Given the description of an element on the screen output the (x, y) to click on. 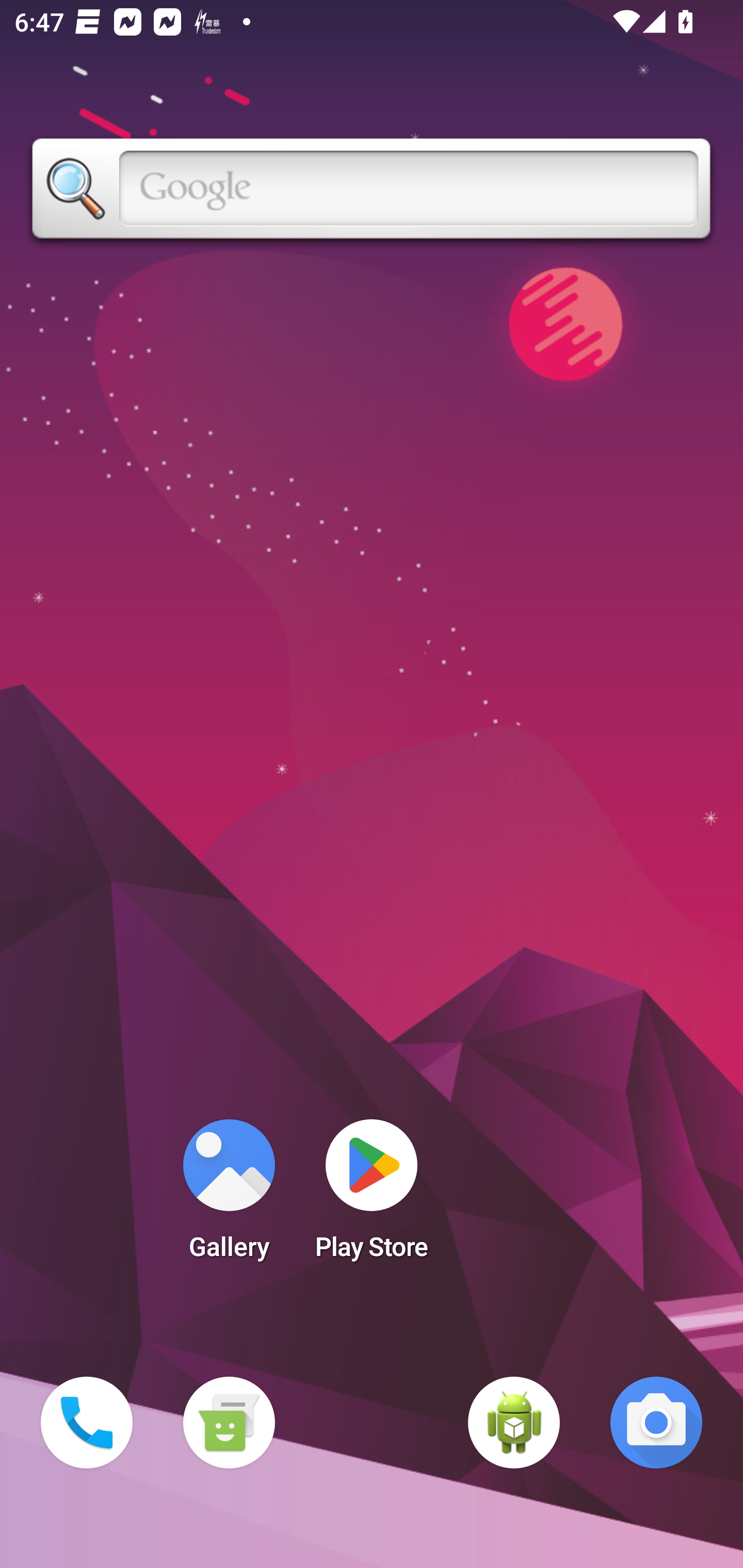
Gallery (228, 1195)
Play Store (371, 1195)
Phone (86, 1422)
Messaging (228, 1422)
WebView Browser Tester (513, 1422)
Camera (656, 1422)
